Given the description of an element on the screen output the (x, y) to click on. 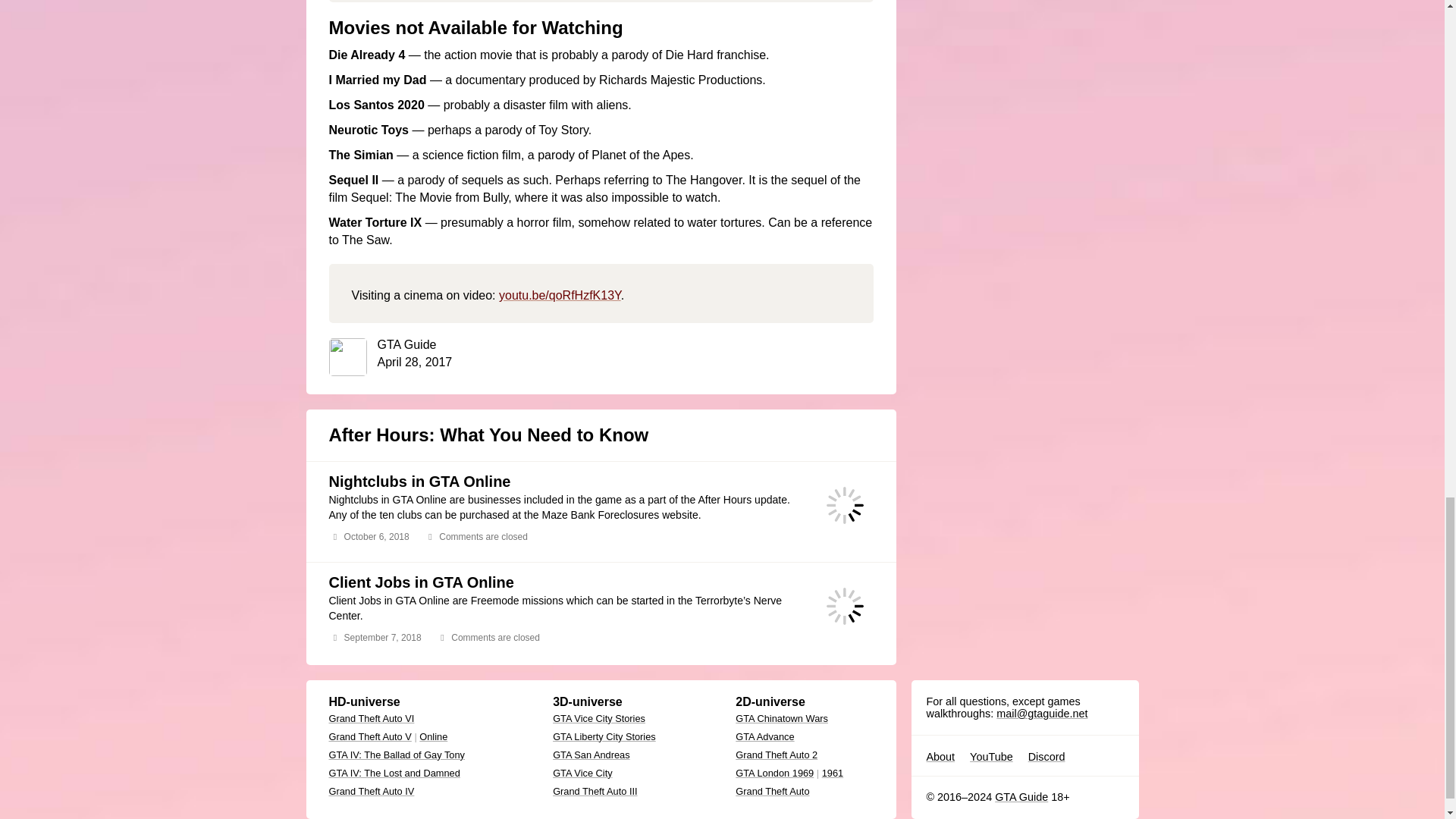
Comments are closed (493, 637)
Comments are closed (480, 536)
